Given the description of an element on the screen output the (x, y) to click on. 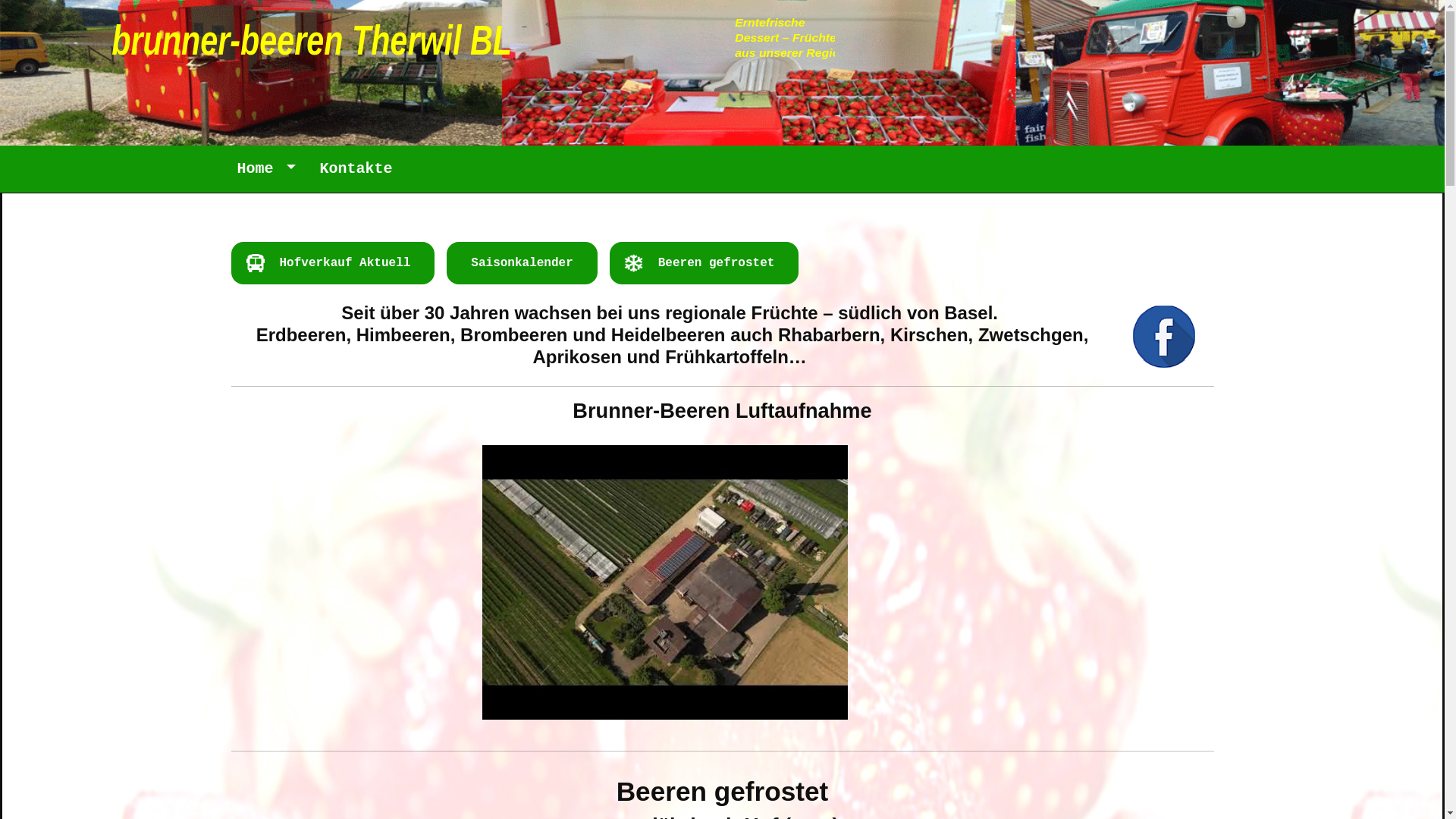
Beeren gefrostet Element type: text (716, 263)
Home Element type: text (265, 168)
Homepage Brunner-Beeren Element type: hover (429, 30)
Hofverkauf Aktuell Element type: text (344, 263)
Kontakte Element type: text (355, 168)
Saisonkalender Element type: text (521, 263)
